Given the description of an element on the screen output the (x, y) to click on. 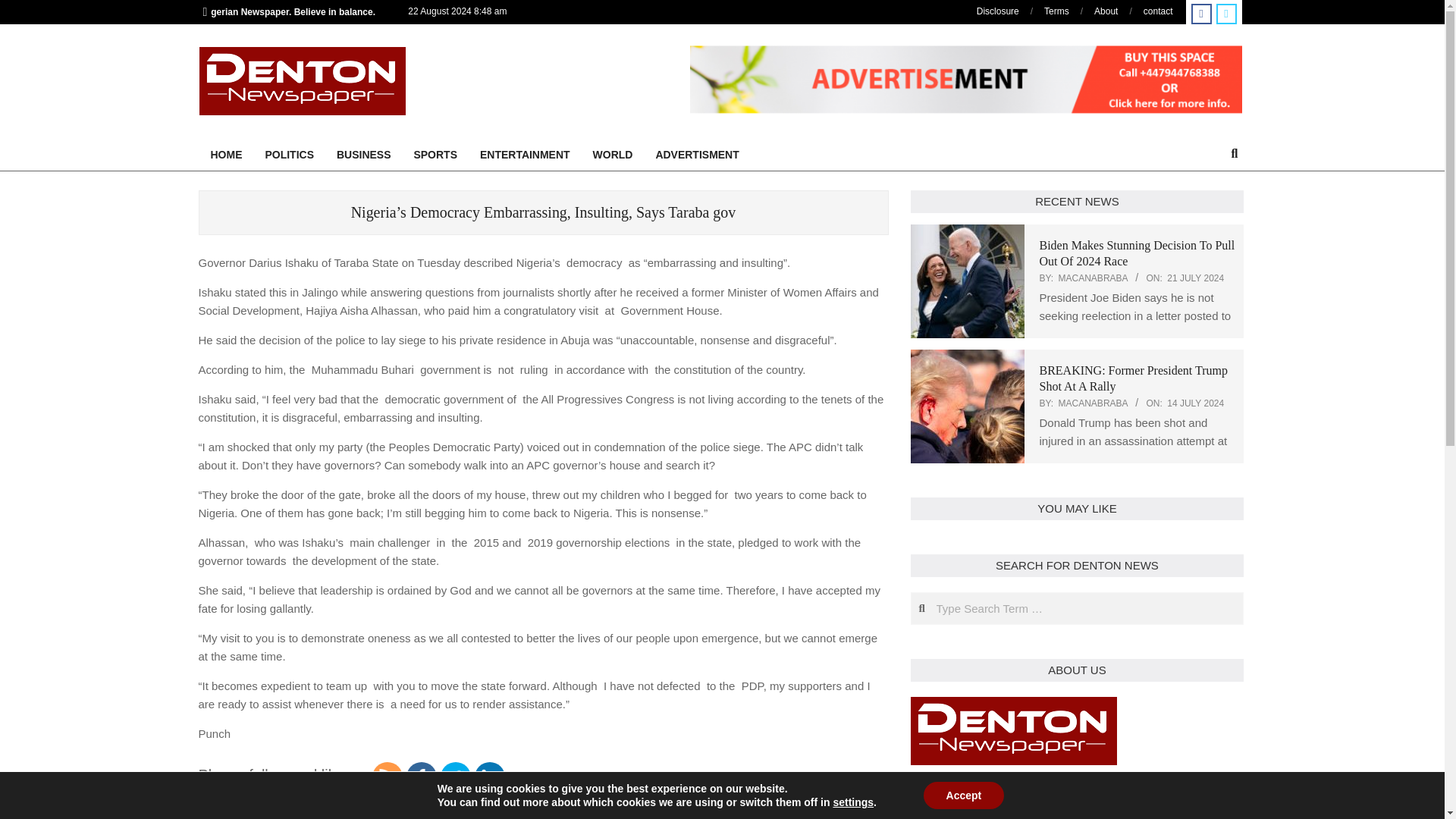
MACANABRABA (1092, 277)
About (1106, 10)
Disclosure (997, 10)
Facebook (421, 777)
Posts by macanabraba (1092, 403)
logo (1013, 705)
Sunday, July 14, 2024, 11:33 am (1195, 403)
Posts by macanabraba (1092, 277)
SPORTS (434, 154)
Biden Makes Stunning Decision To Pull Out Of 2024 Race (1136, 253)
